Given the description of an element on the screen output the (x, y) to click on. 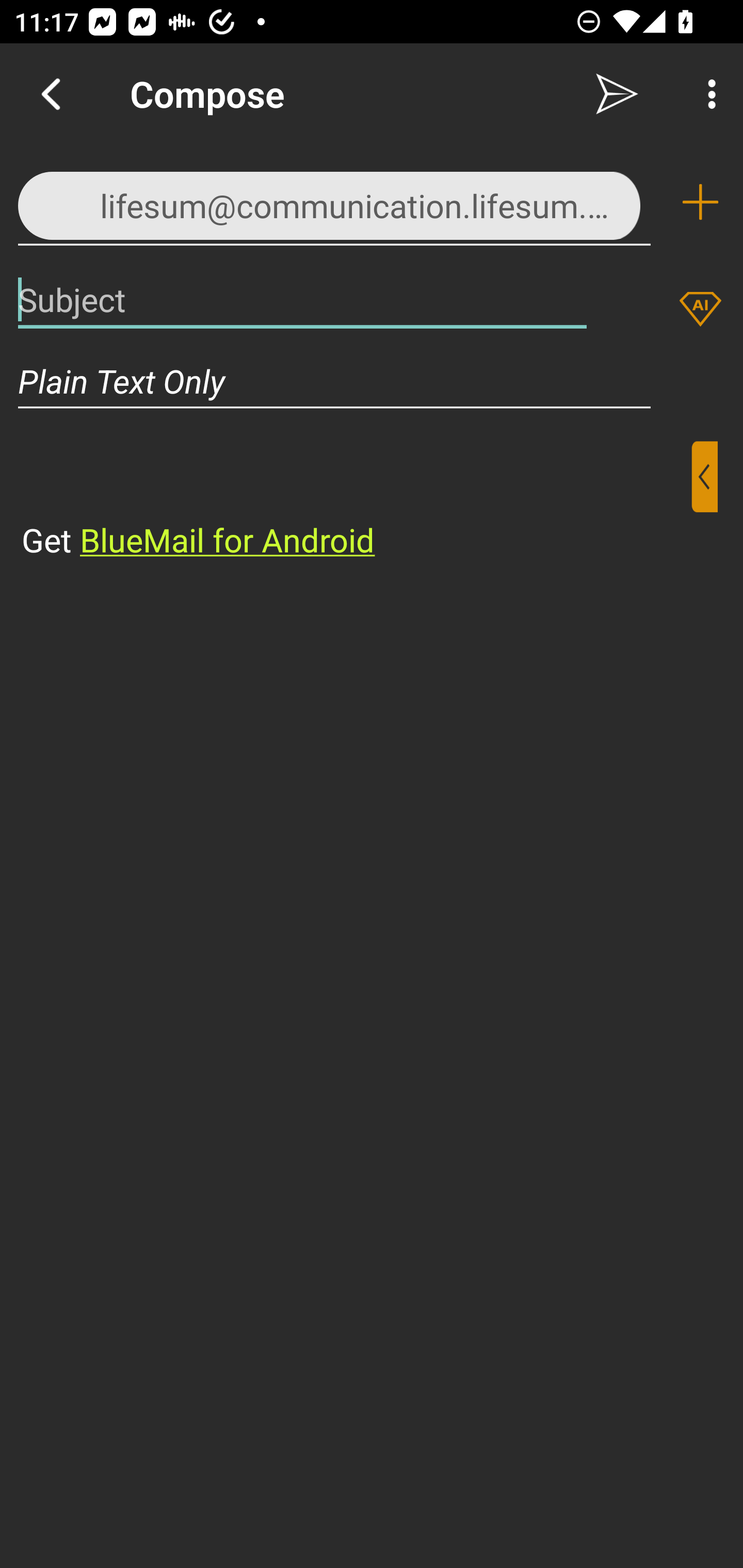
Navigate up (50, 93)
Send (616, 93)
More Options (706, 93)
<lifesum@communication.lifesum.com>,  (334, 201)
Add recipient (To) (699, 201)
Subject (302, 299)
Plain Text Only (371, 380)


⁣Get BlueMail for Android ​ (355, 501)
